Given the description of an element on the screen output the (x, y) to click on. 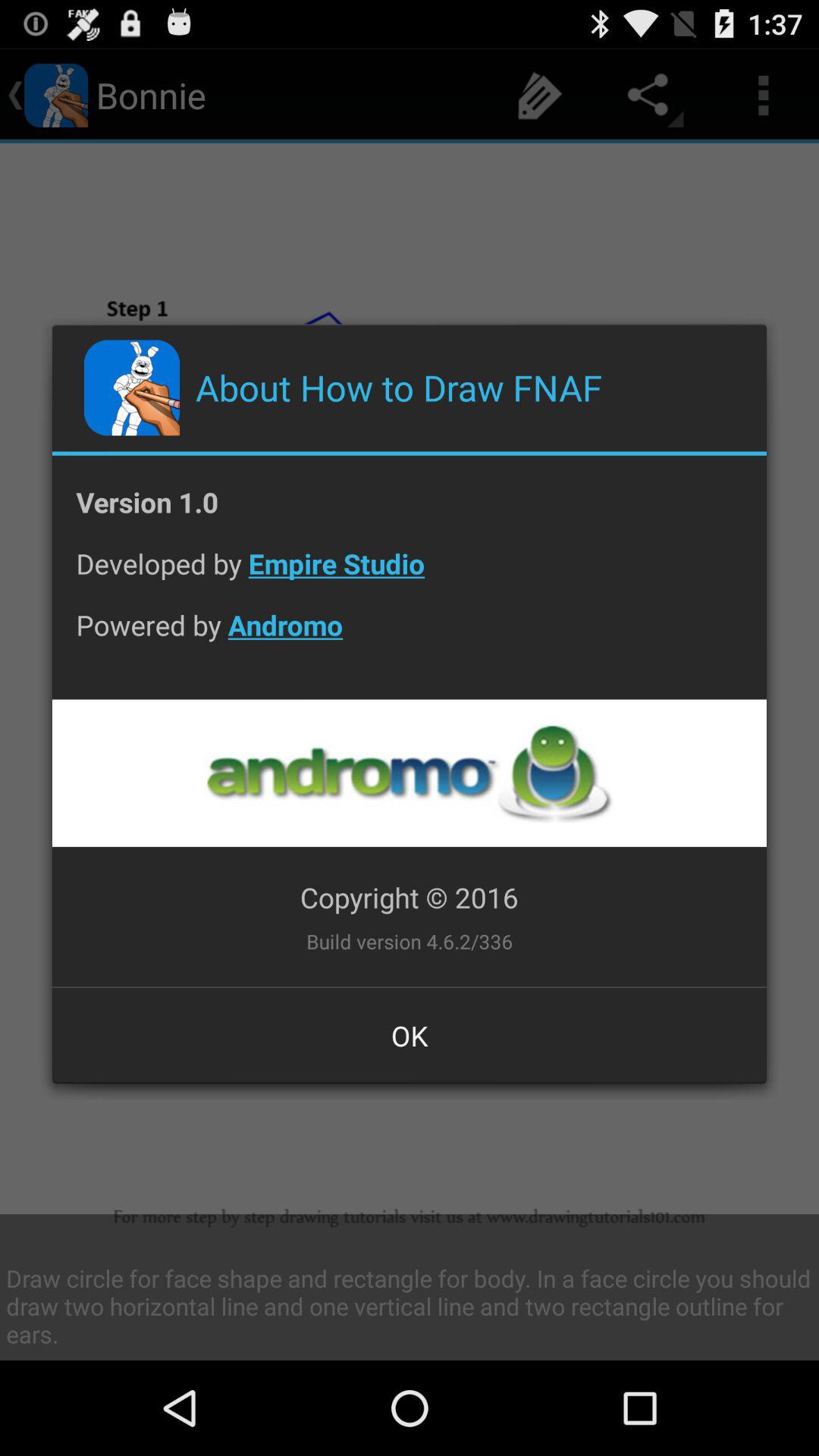
jump until powered by andromo item (409, 636)
